Given the description of an element on the screen output the (x, y) to click on. 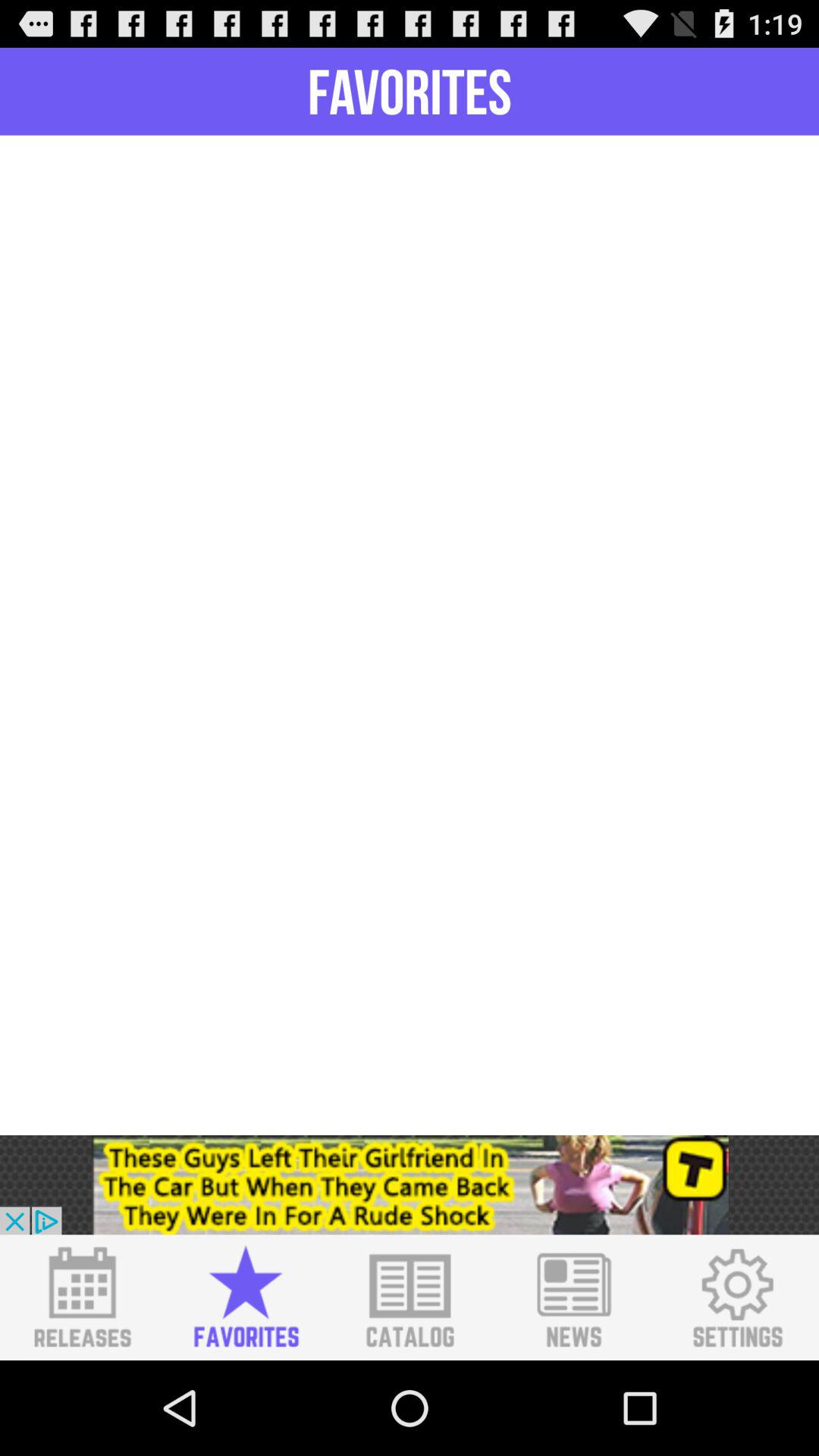
click advertisement (409, 1184)
